Given the description of an element on the screen output the (x, y) to click on. 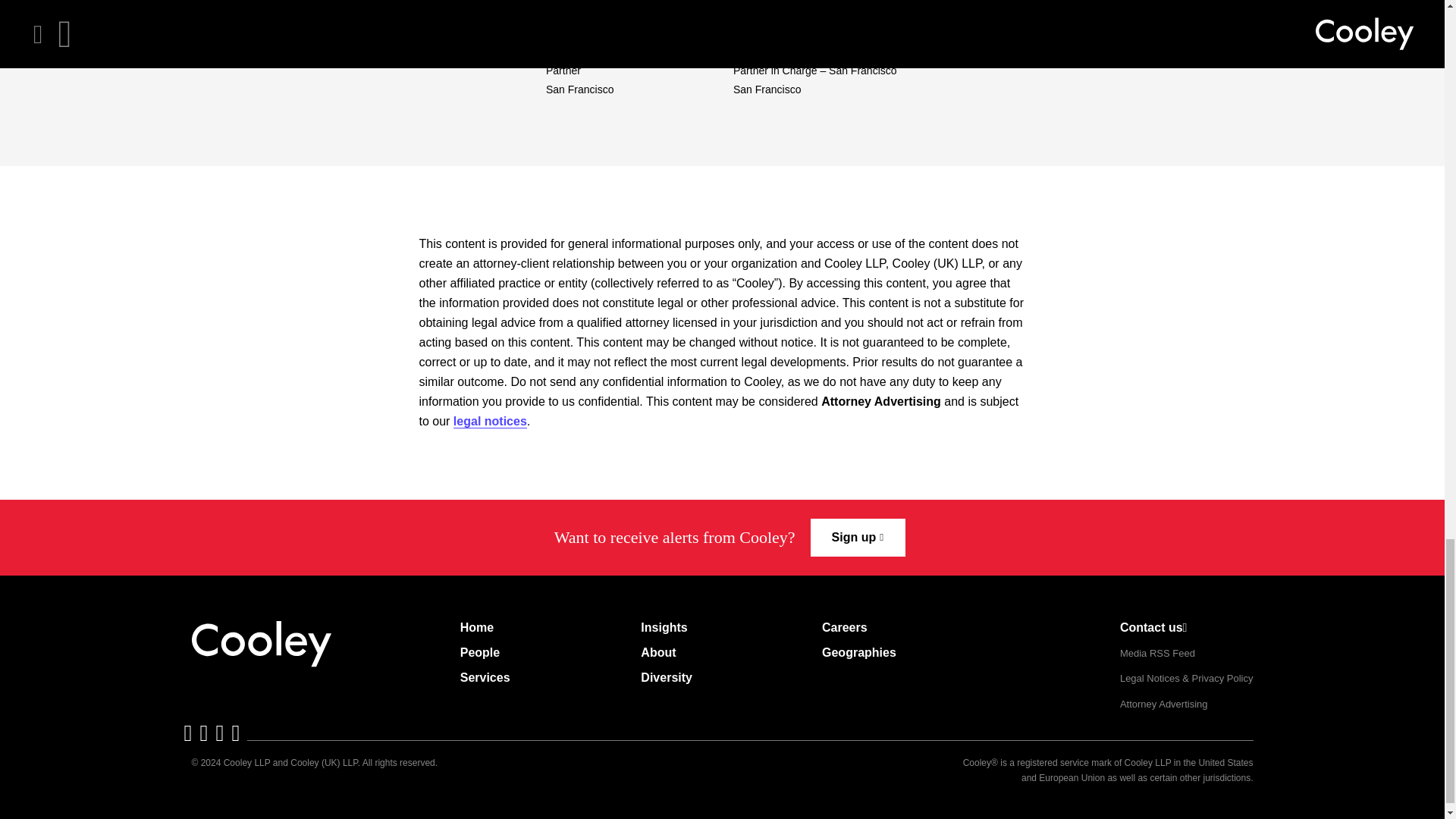
legal notices (489, 421)
Home (476, 627)
Matthew Bartus (600, 49)
Services (485, 677)
People (479, 653)
Sign up (857, 537)
Peter H. Werner (788, 49)
